Given the description of an element on the screen output the (x, y) to click on. 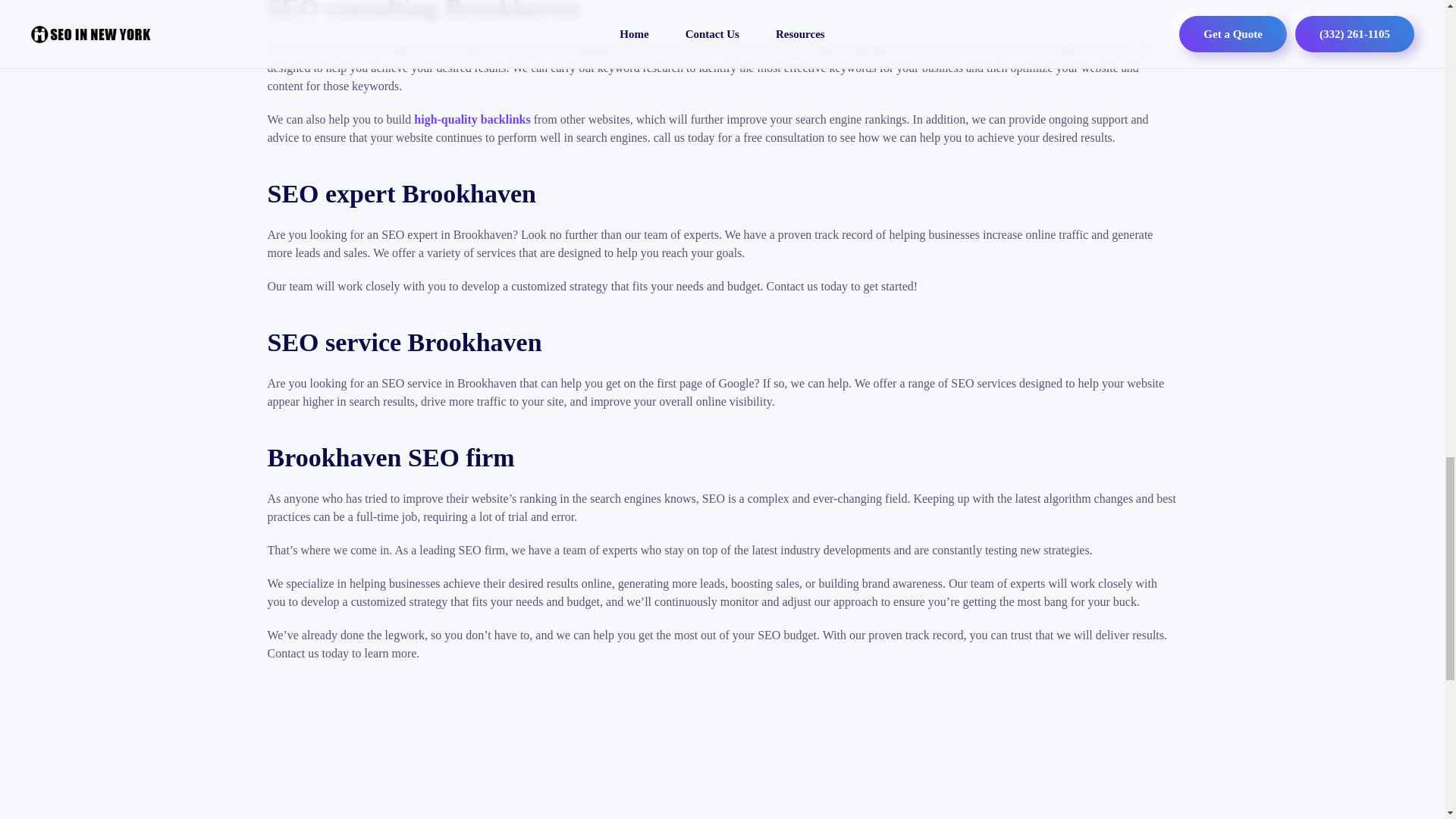
high-quality backlinks (471, 119)
